Given the description of an element on the screen output the (x, y) to click on. 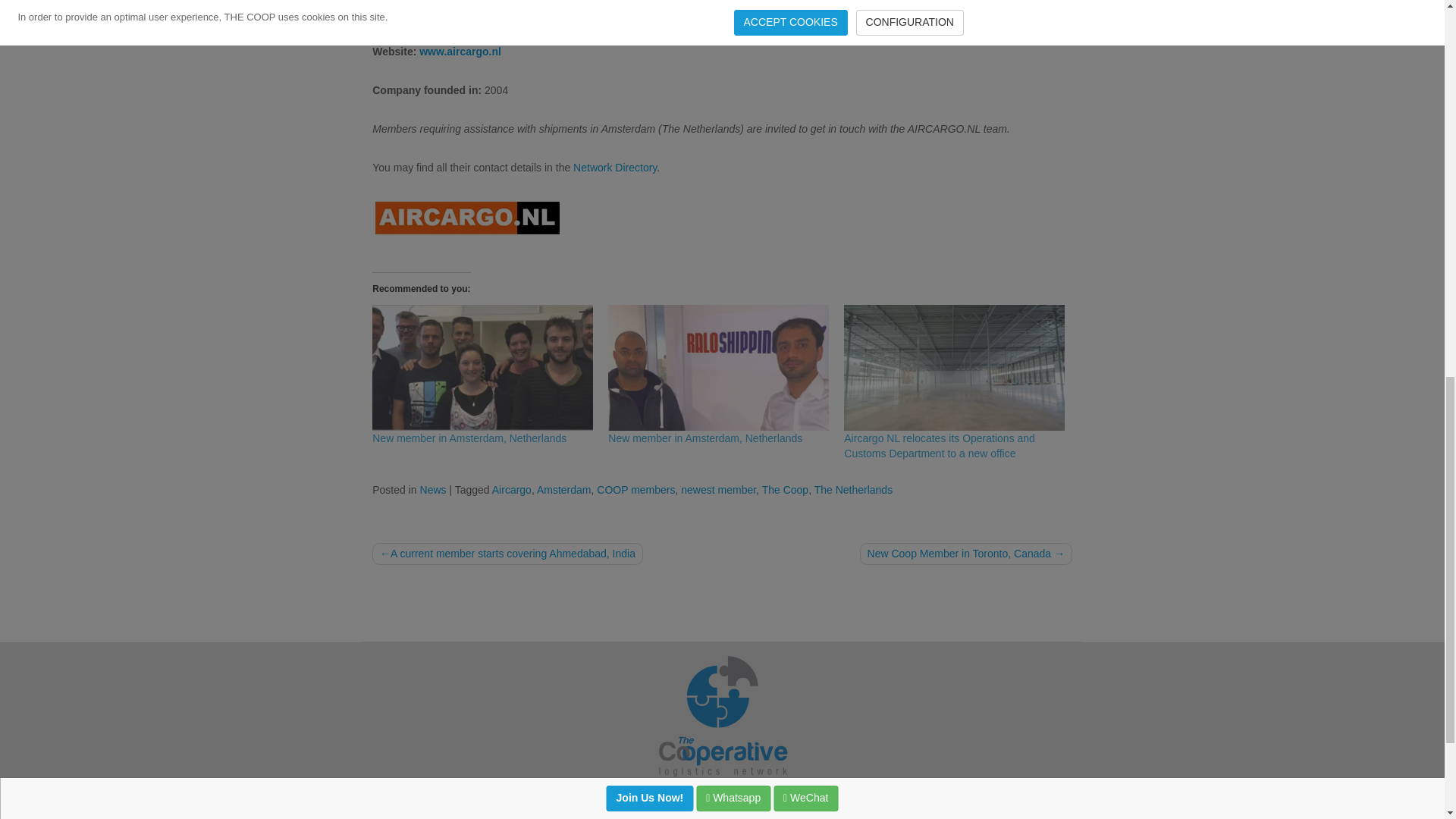
Network Directory (614, 167)
www.aircargo.nl (459, 51)
New member in Amsterdam, Netherlands (469, 438)
New member in Amsterdam, Netherlands (705, 438)
New member in Amsterdam, Netherlands (469, 438)
New member in Amsterdam, Netherlands (482, 367)
New member in Amsterdam, Netherlands (705, 438)
New member in Amsterdam, Netherlands (718, 367)
